Given the description of an element on the screen output the (x, y) to click on. 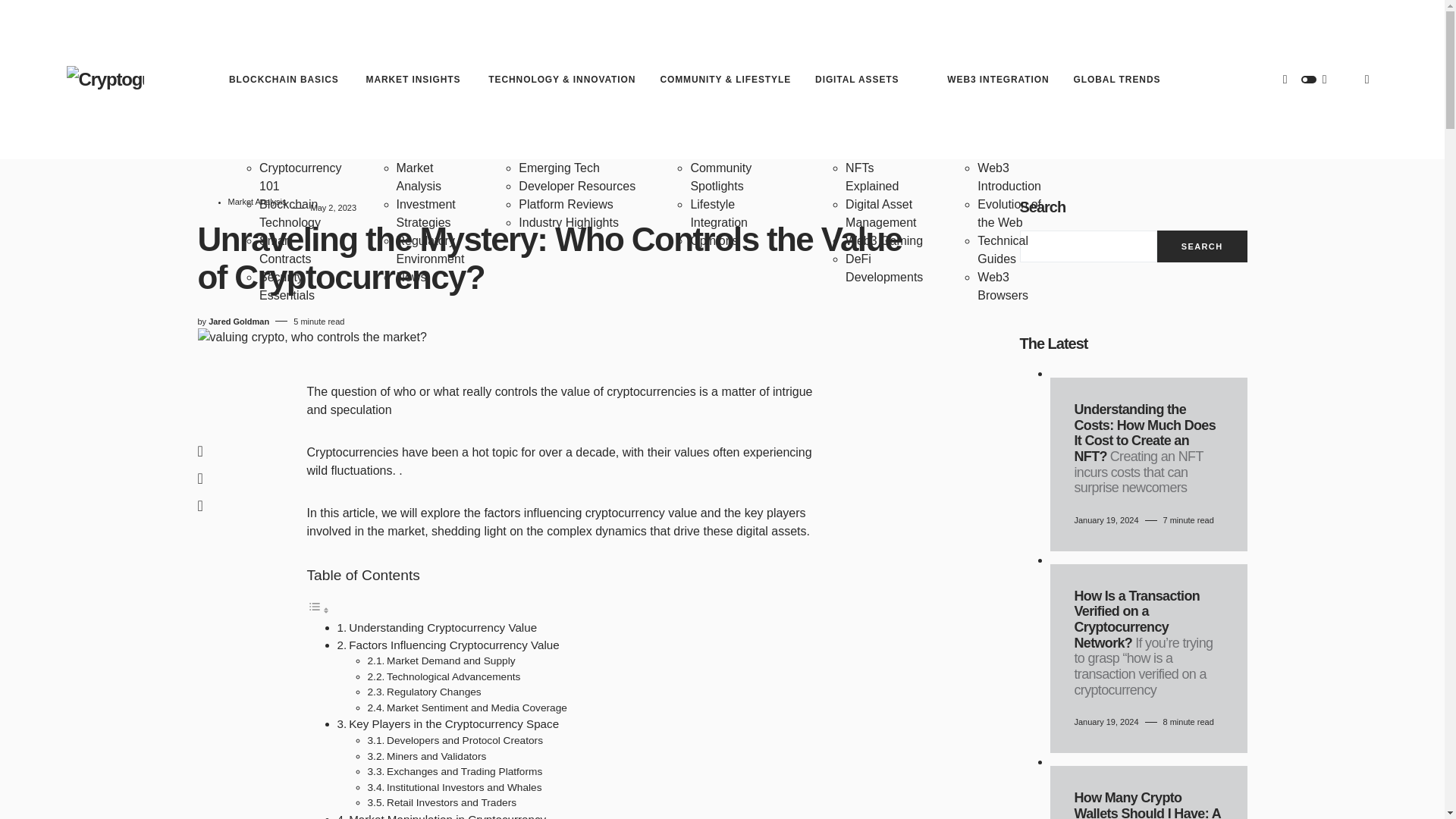
Factors Influencing Cryptocurrency Value (454, 644)
Technological Advancements (453, 676)
Developers and Protocol Creators (465, 740)
Understanding Cryptocurrency Value (443, 626)
Key Players in the Cryptocurrency Space (454, 723)
View all posts by Jared Goldman (238, 321)
Regulatory Changes (434, 691)
Market Sentiment and Media Coverage (477, 707)
Market Demand and Supply (451, 660)
